Given the description of an element on the screen output the (x, y) to click on. 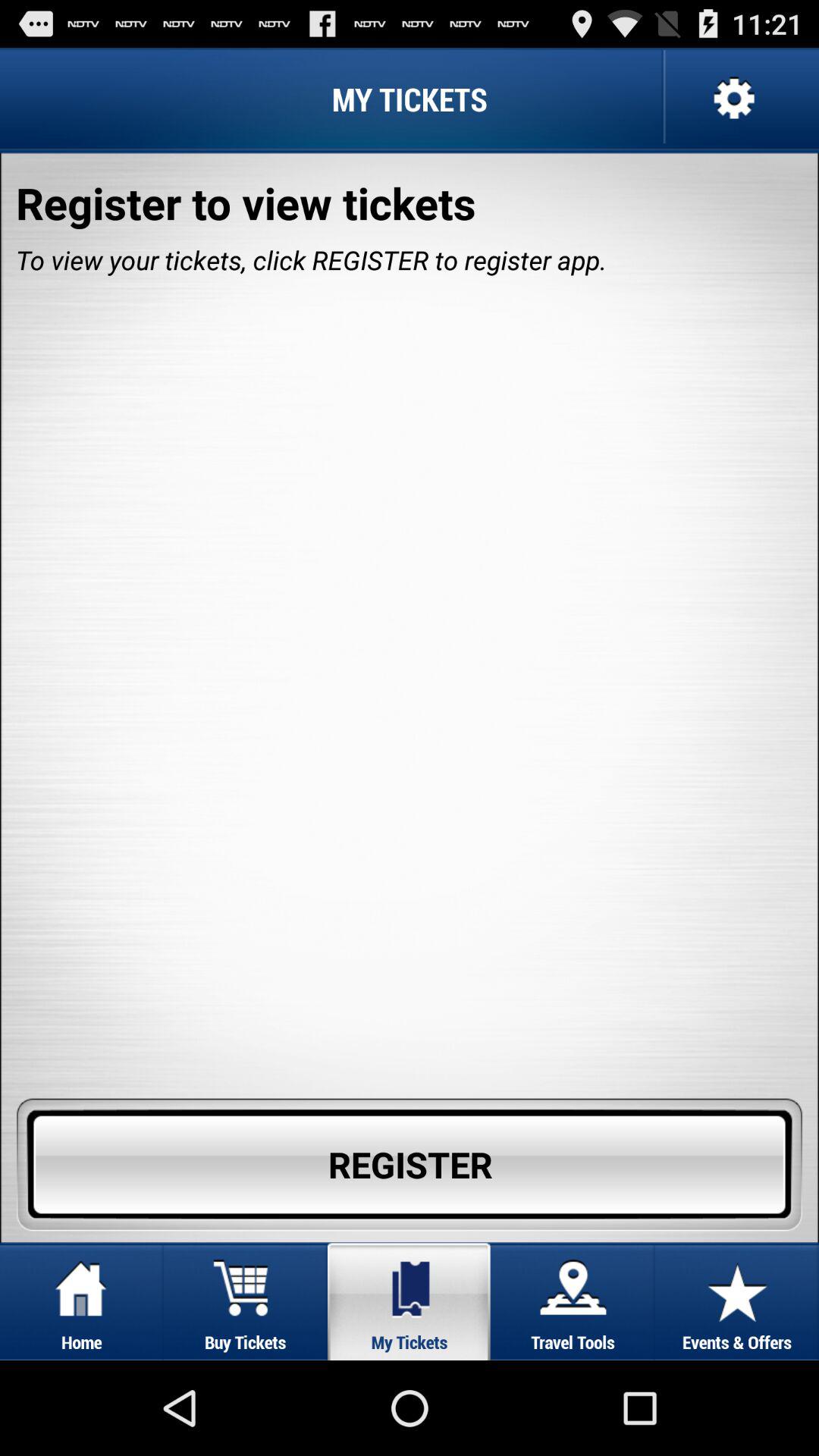
open settings (732, 99)
